Given the description of an element on the screen output the (x, y) to click on. 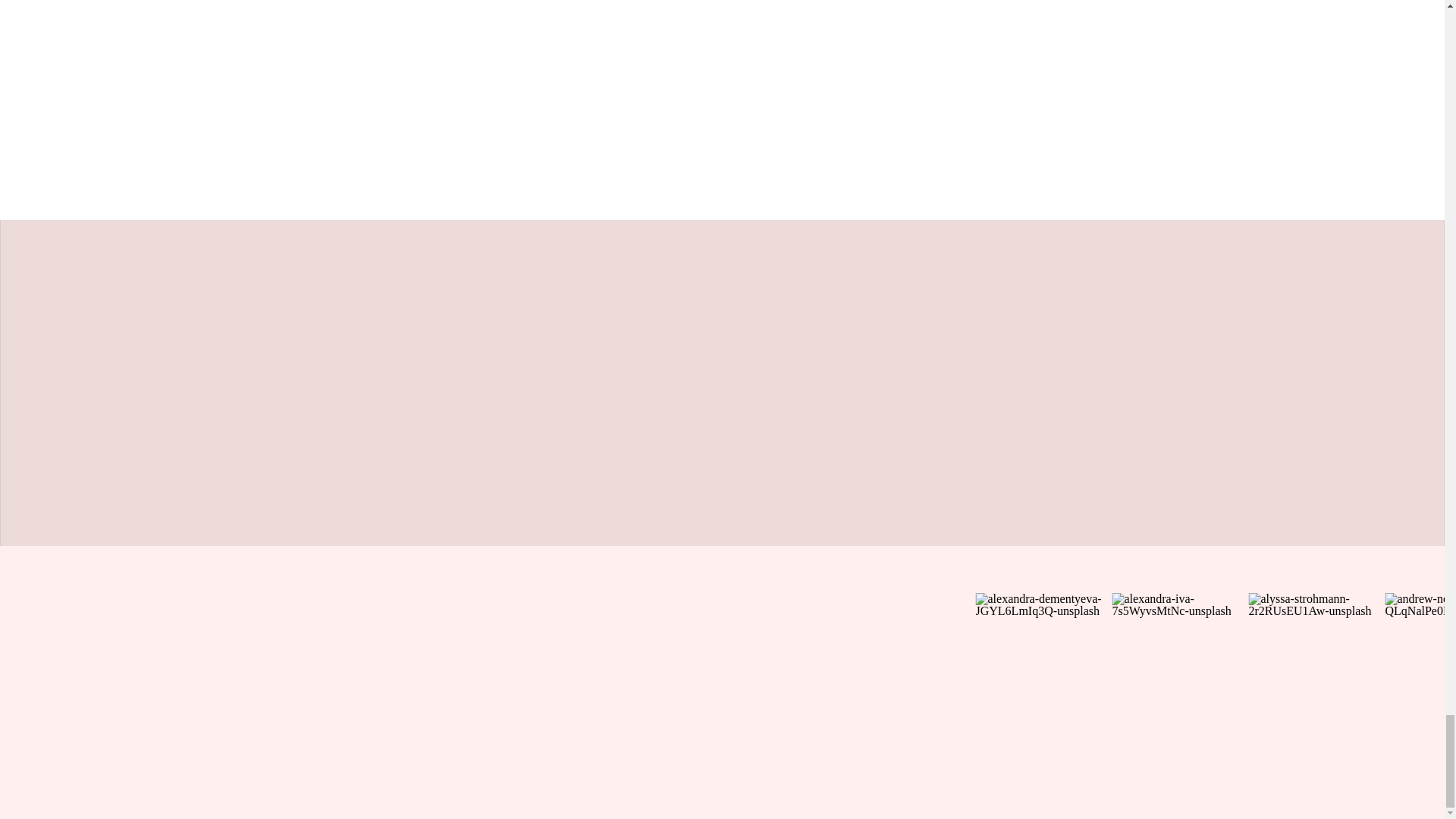
alyssa-strohmann-2r2RUsEU1Aw-unsplash (1315, 660)
alexandra-iva-7s5WyvsMtNc-unsplash (1179, 660)
alexandra-dementyeva-JGYL6LmIq3Q-unsplash (1043, 660)
